Given the description of an element on the screen output the (x, y) to click on. 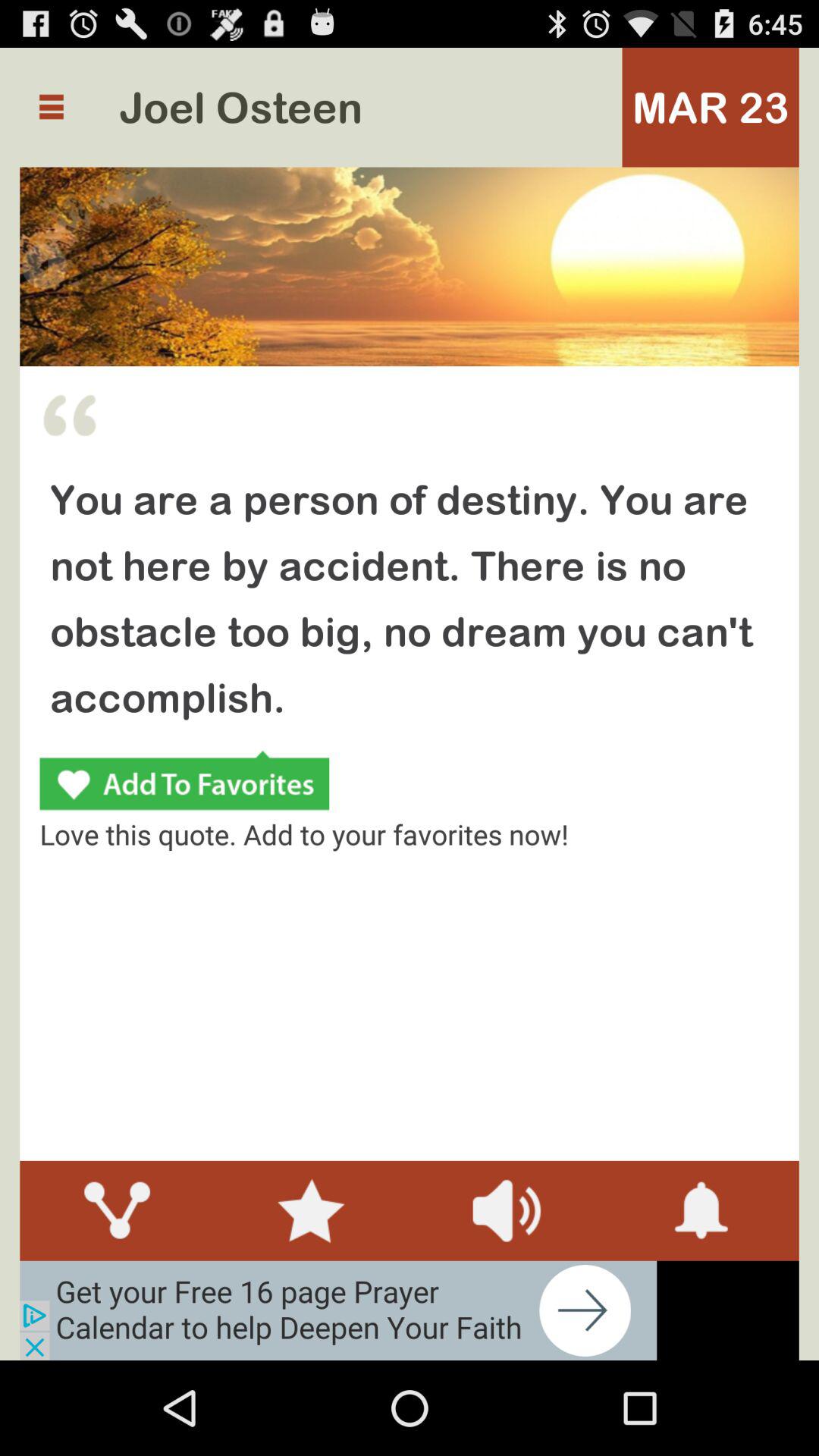
open advertisement (337, 1310)
